Given the description of an element on the screen output the (x, y) to click on. 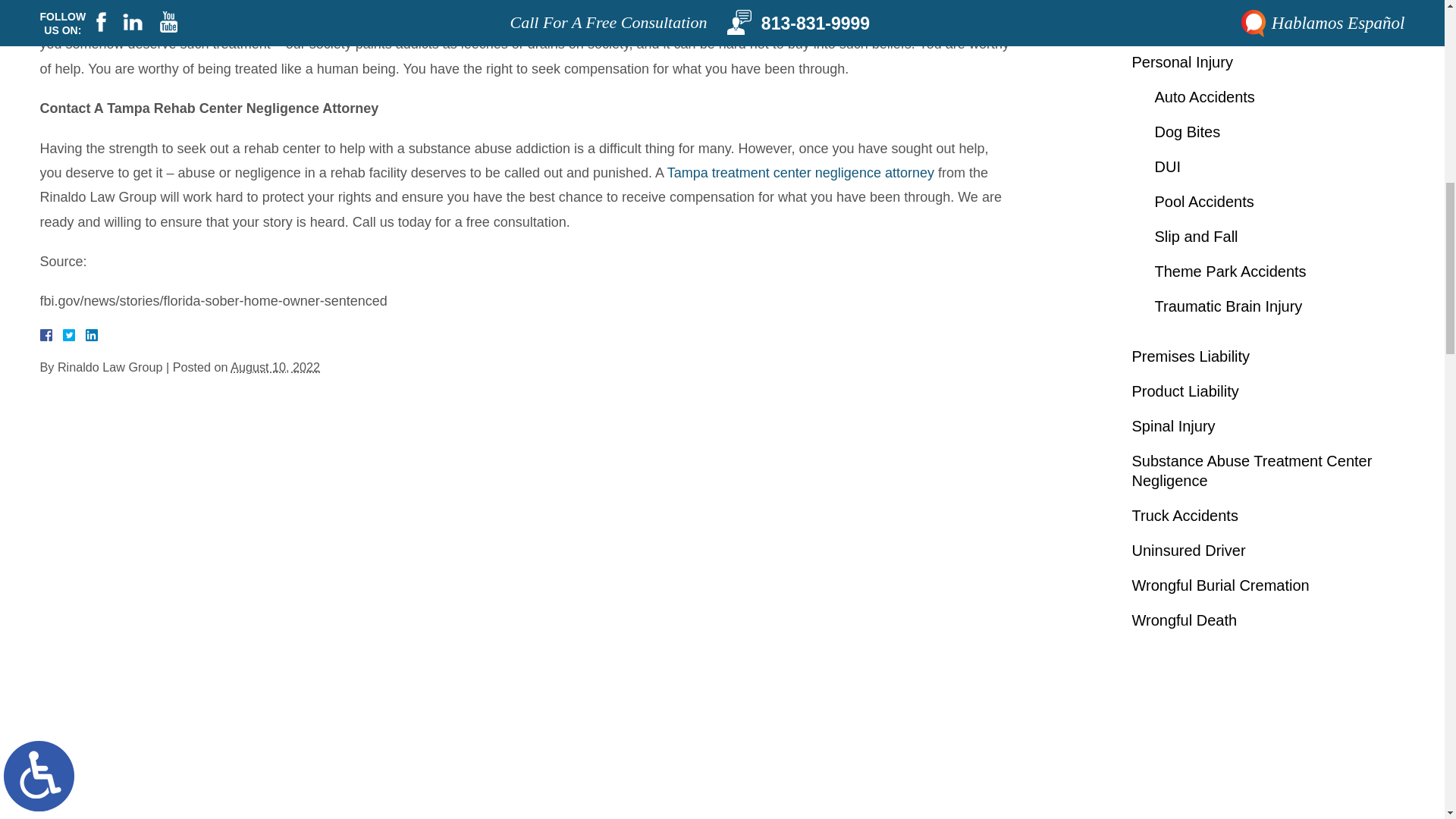
2022-08-10T03:00:21-0700 (275, 366)
Twitter (74, 335)
Facebook (63, 335)
LinkedIn (85, 335)
